Given the description of an element on the screen output the (x, y) to click on. 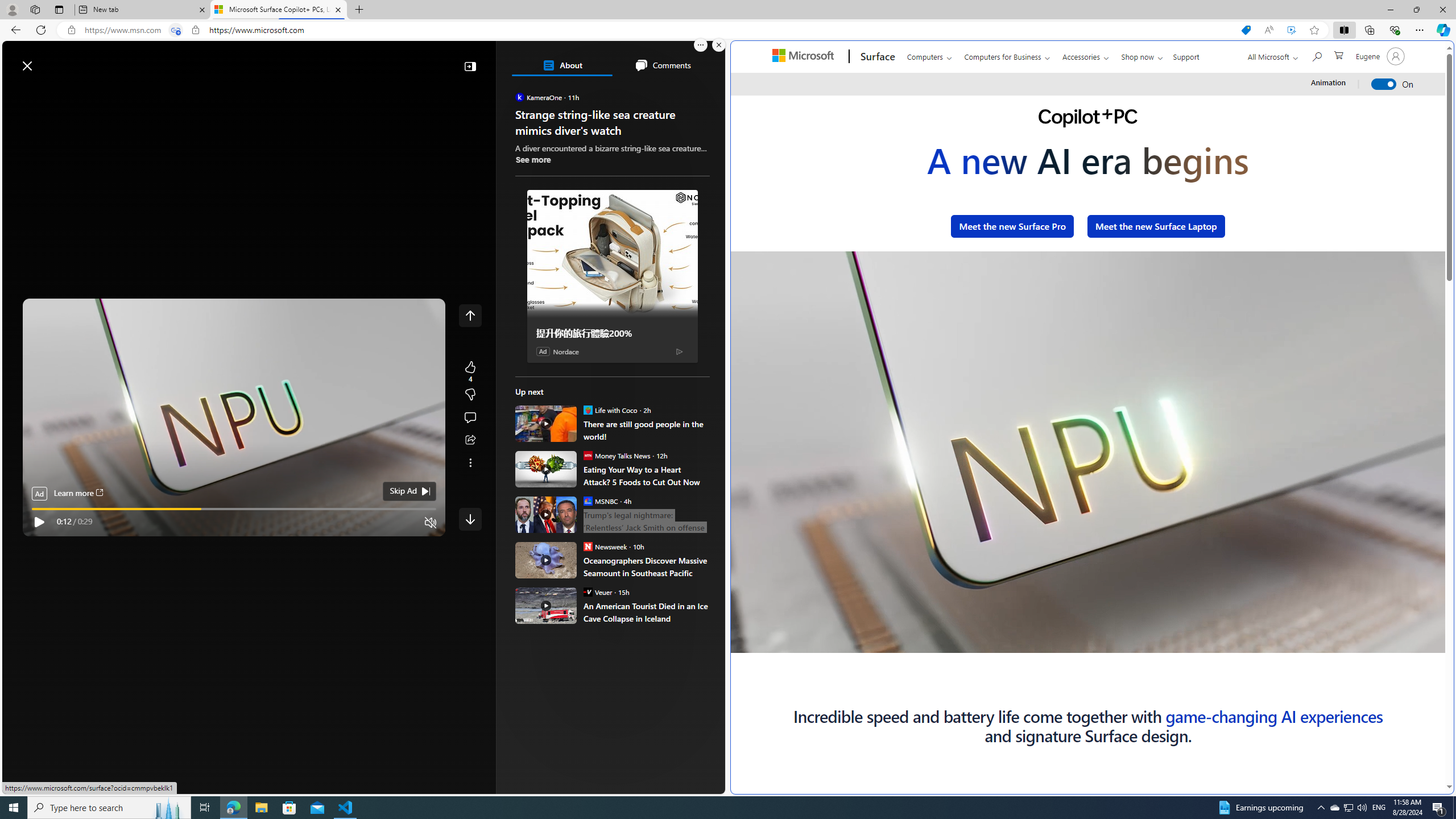
Veuer Veuer (597, 591)
Veuer (587, 591)
MSNBC MSNBC (600, 500)
Download (1332, 643)
Support (1185, 54)
An American Tourist Died in an Ice Cave Collapse in Iceland (545, 605)
About (561, 64)
